Given the description of an element on the screen output the (x, y) to click on. 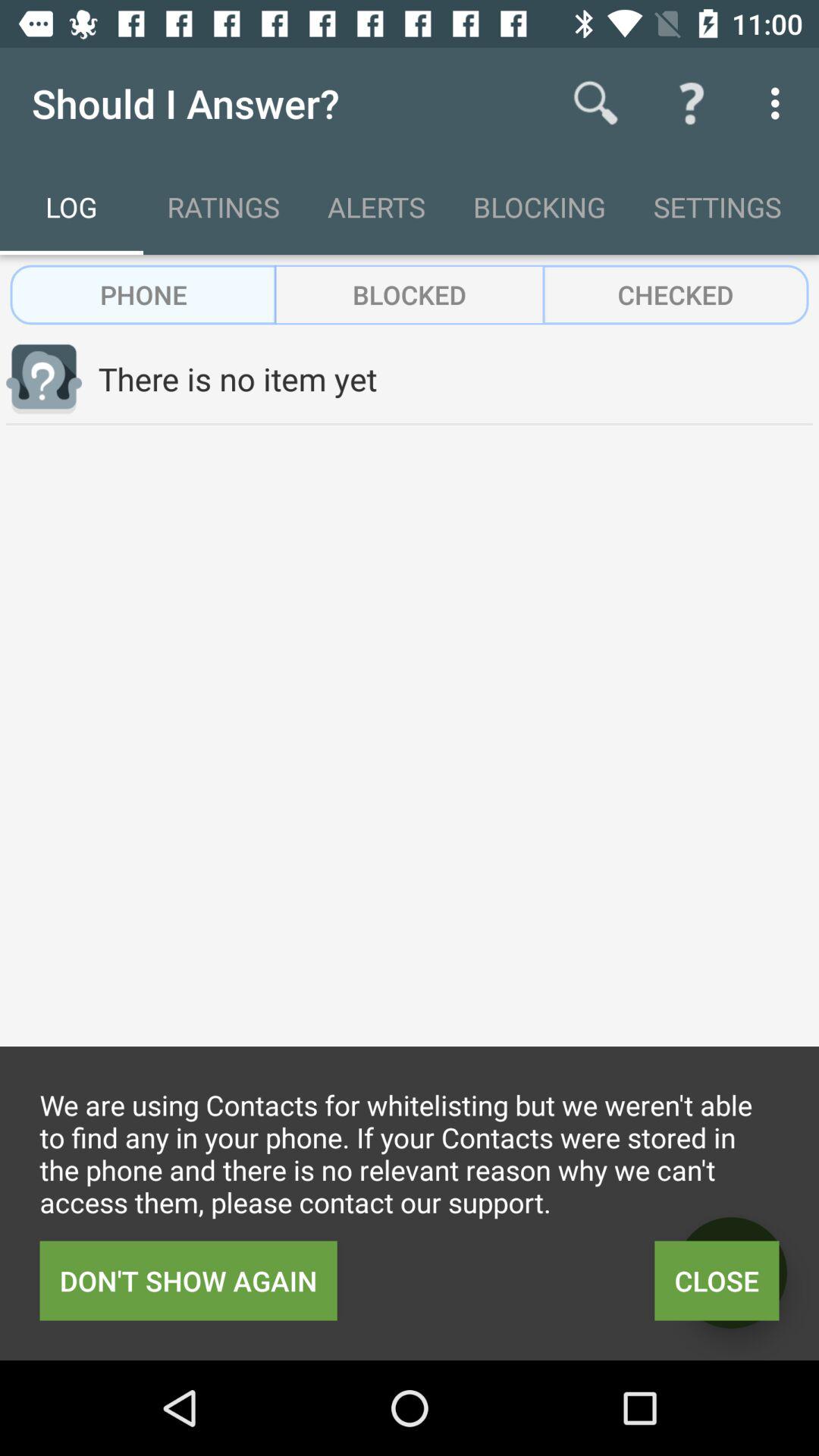
swipe until the close (716, 1280)
